Given the description of an element on the screen output the (x, y) to click on. 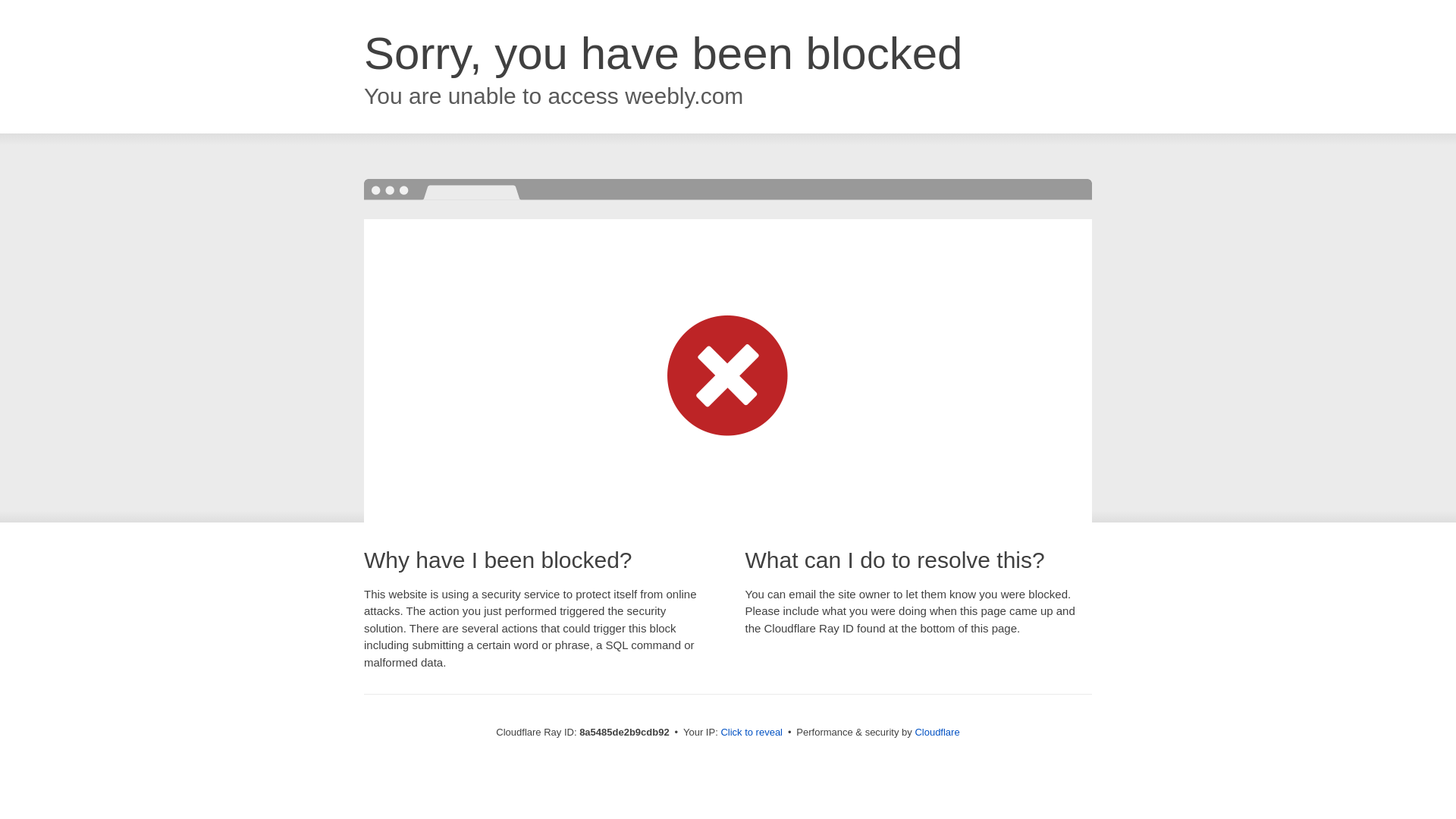
Click to reveal (751, 732)
Cloudflare (936, 731)
